Given the description of an element on the screen output the (x, y) to click on. 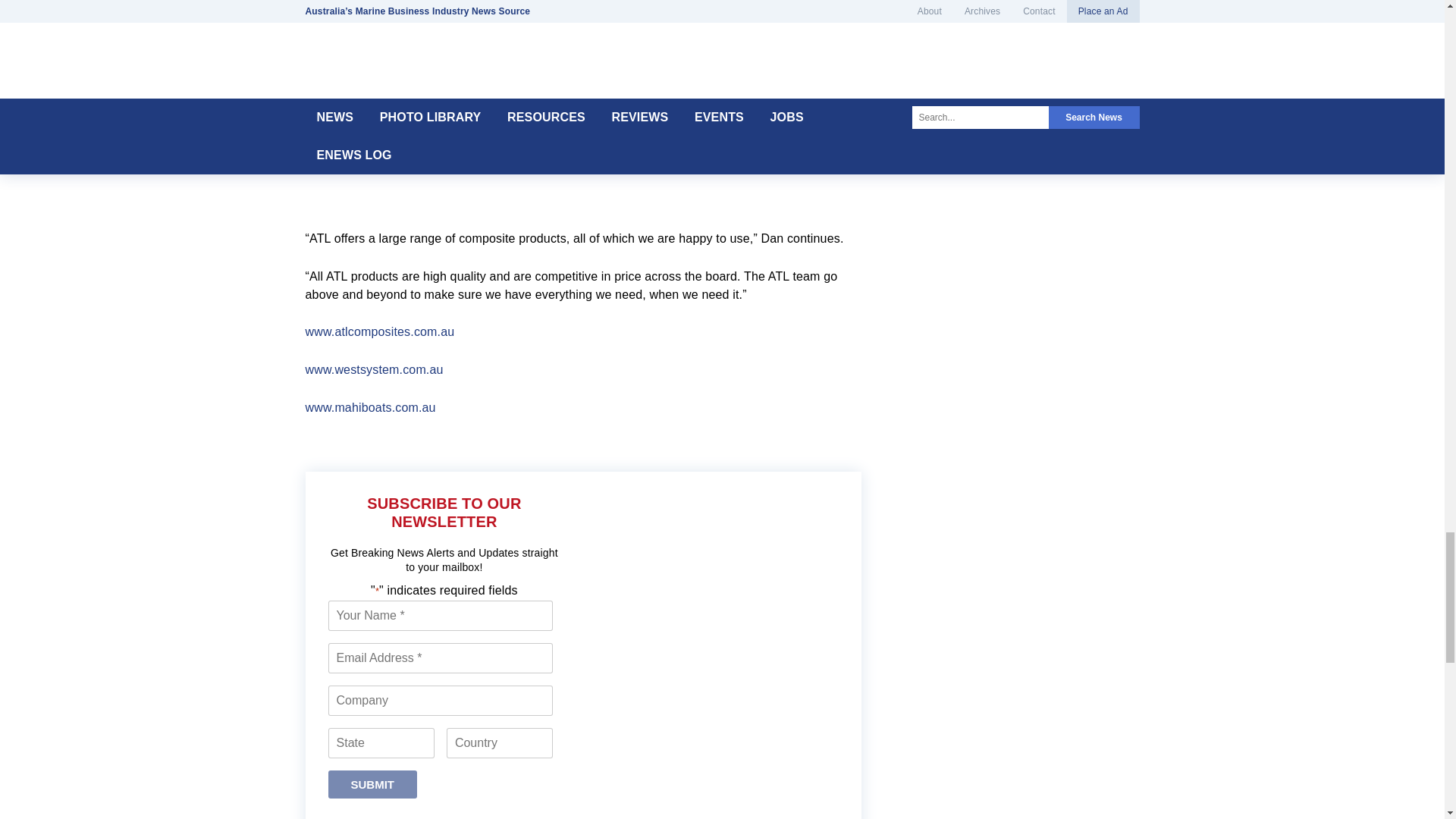
Submit (373, 784)
www.mahiboats.com.au (370, 407)
www.westsystem.com.au (374, 369)
Submit (373, 784)
www.atlcomposites.com.au (379, 331)
